Given the description of an element on the screen output the (x, y) to click on. 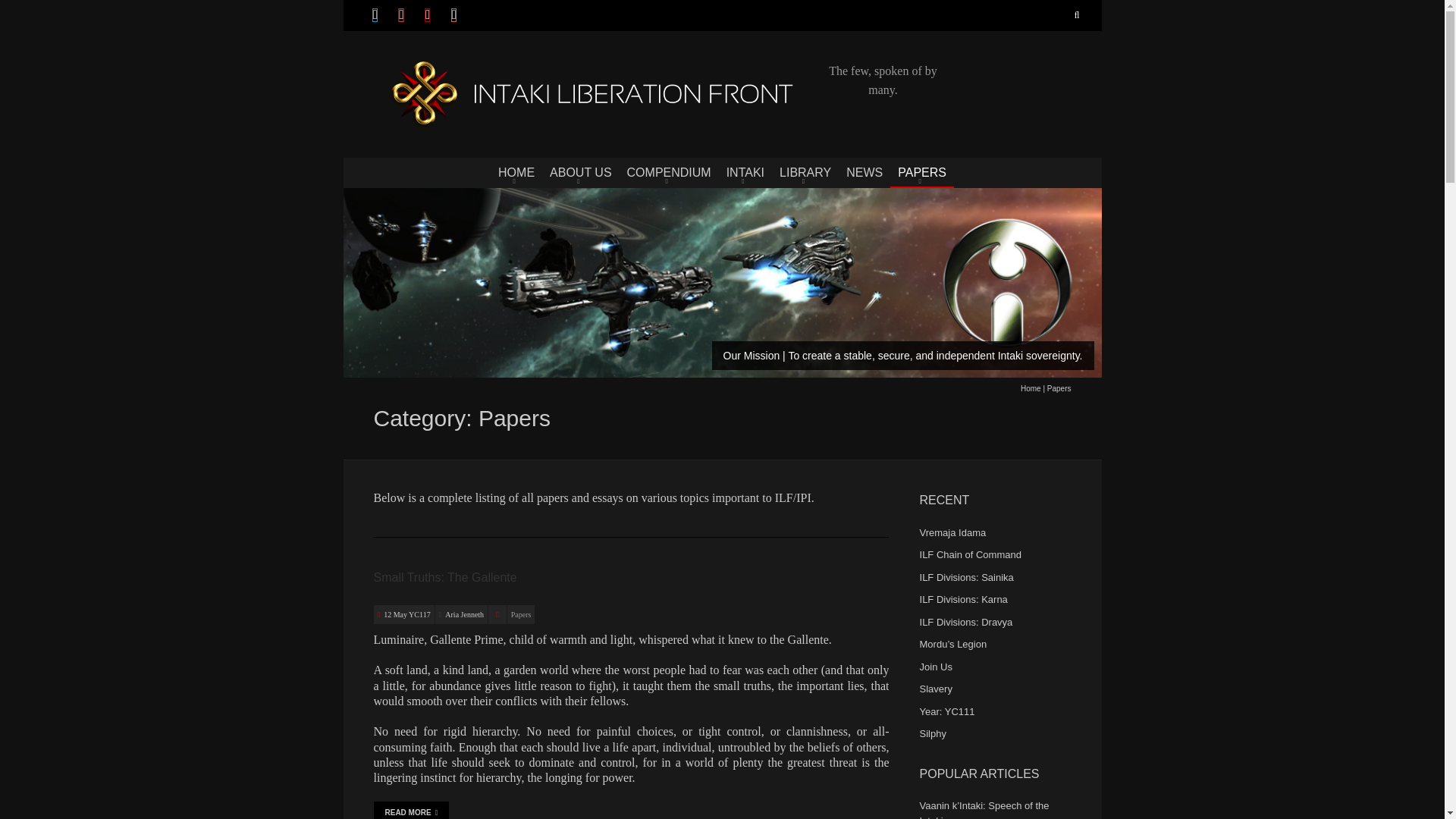
Small Truths: The Gallente (406, 614)
Small Truths: The Gallente (444, 576)
Search (1074, 15)
Search (1074, 15)
Category (496, 614)
